Given the description of an element on the screen output the (x, y) to click on. 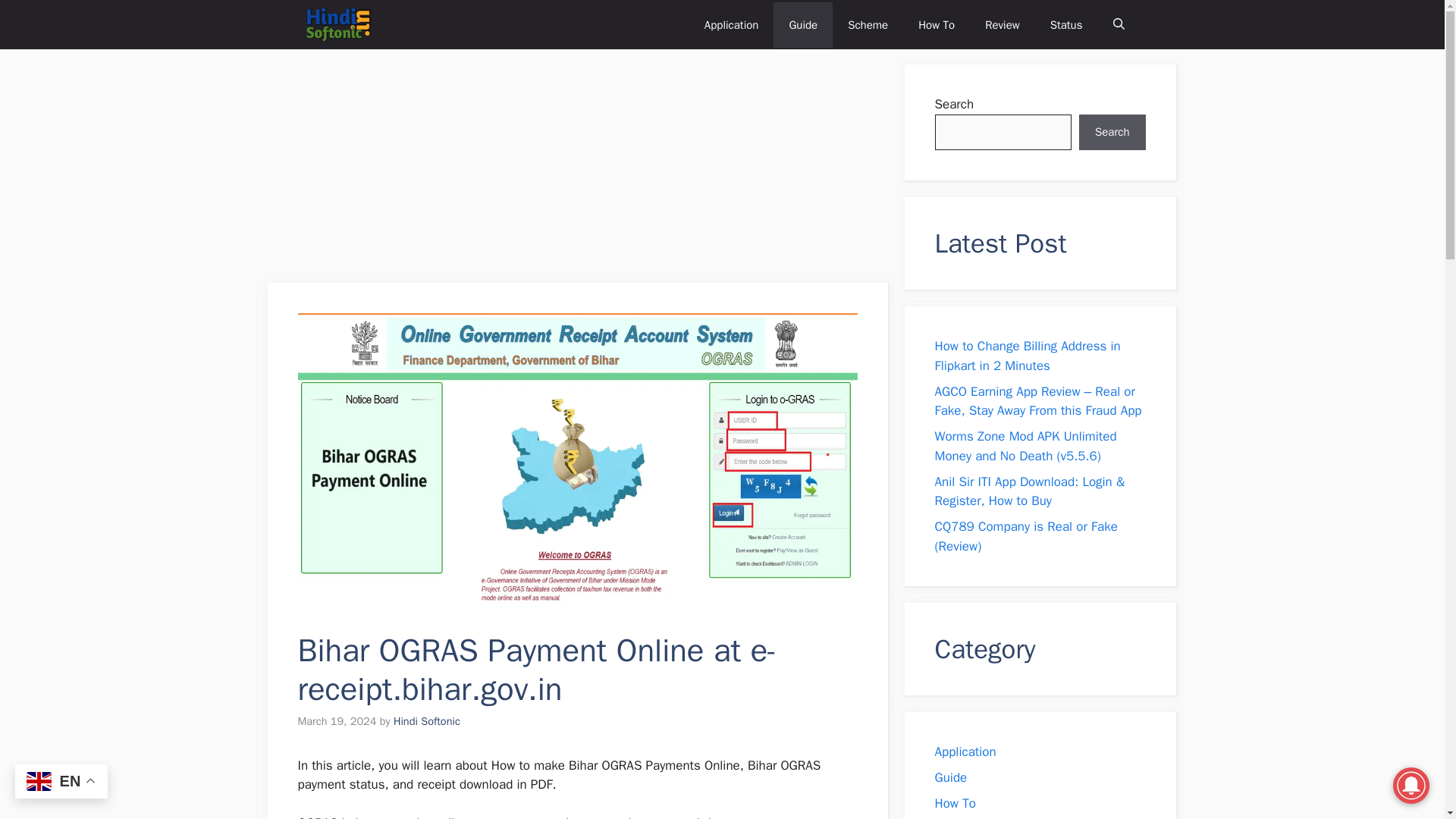
Status (1066, 23)
Application (731, 23)
How to Change Billing Address in Flipkart in 2 Minutes (1026, 355)
How To (935, 23)
Guide (802, 23)
Application (964, 751)
Review (1002, 23)
How To (954, 803)
HindiSoftonic: Government Schemes and Services (337, 24)
Advertisement (577, 170)
